Given the description of an element on the screen output the (x, y) to click on. 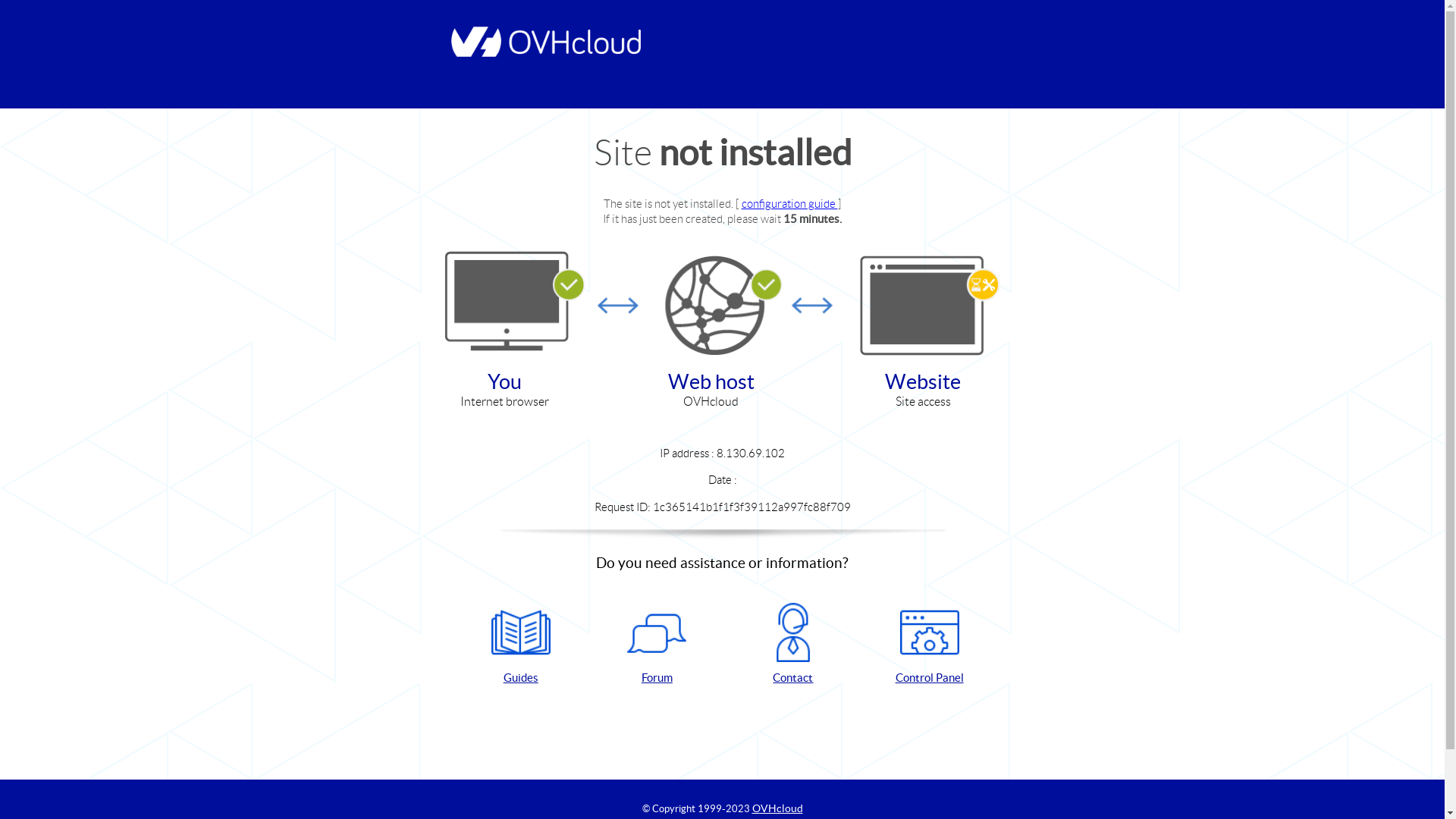
OVHcloud Element type: text (777, 808)
configuration guide Element type: text (789, 203)
Guides Element type: text (520, 644)
Contact Element type: text (792, 644)
Control Panel Element type: text (929, 644)
Forum Element type: text (656, 644)
